Given the description of an element on the screen output the (x, y) to click on. 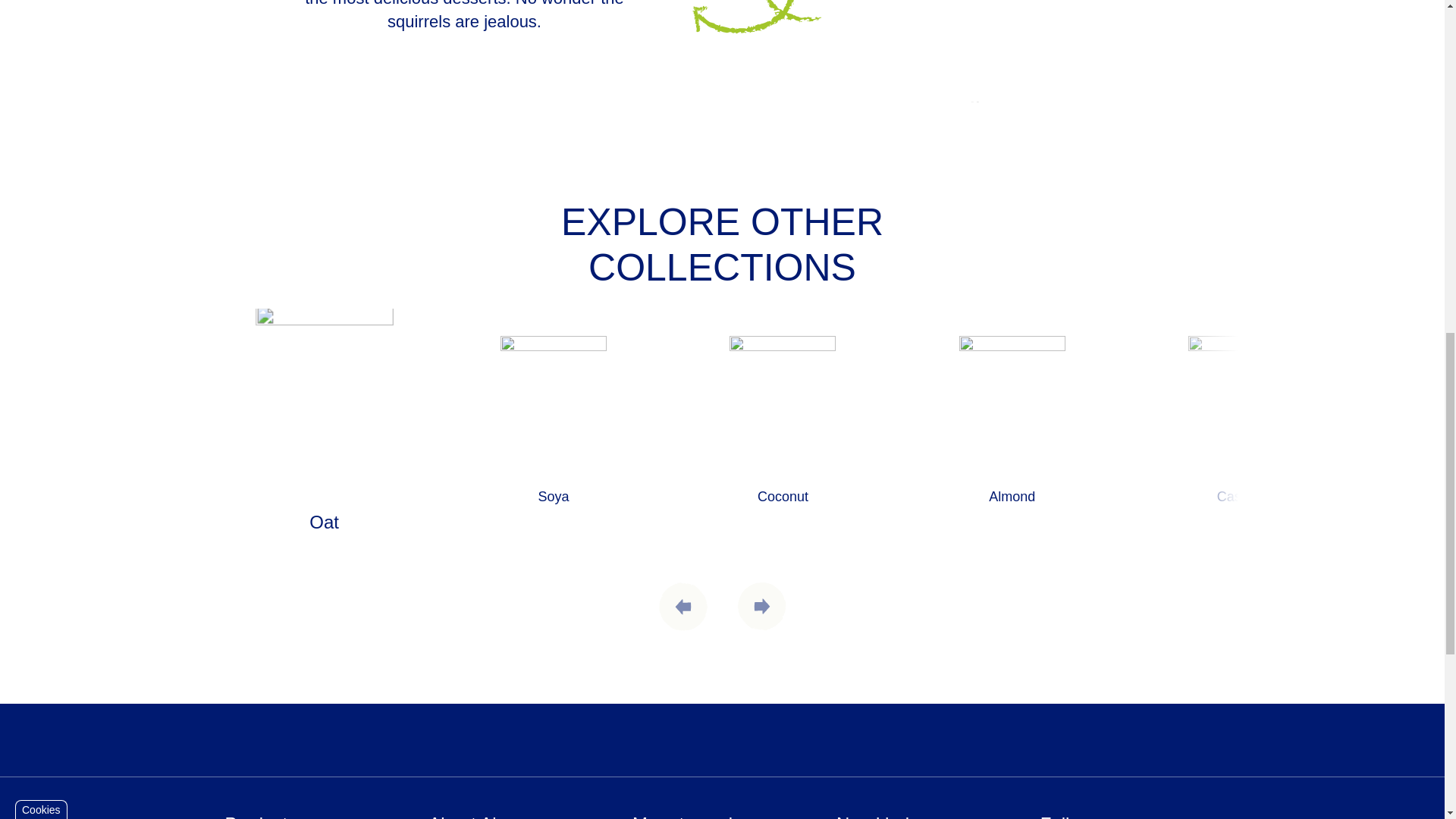
Almond (1012, 434)
Coconut (782, 434)
Soya (553, 434)
Oat (323, 445)
Cashew (1240, 434)
